Given the description of an element on the screen output the (x, y) to click on. 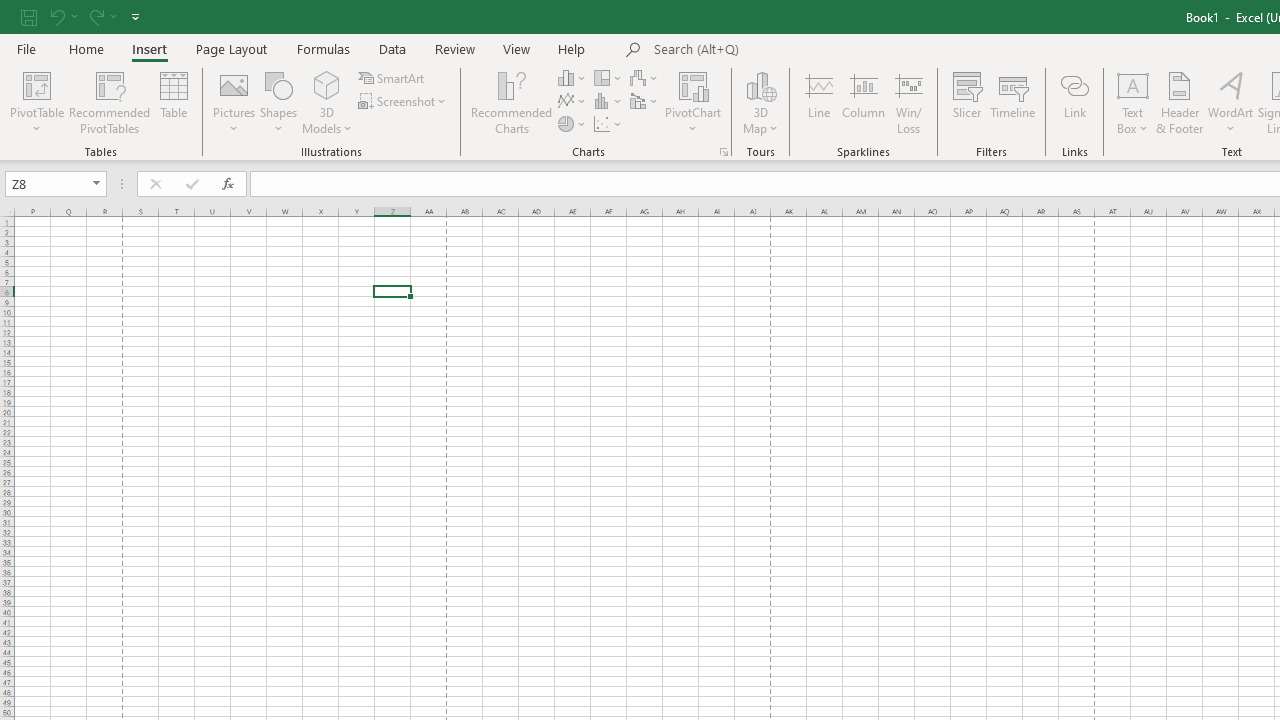
Recommended PivotTables (109, 102)
Insert Hierarchy Chart (609, 78)
Link (1074, 102)
3D Models (326, 102)
Shapes (278, 102)
Column (863, 102)
Slicer... (966, 102)
Header & Footer... (1179, 102)
